Given the description of an element on the screen output the (x, y) to click on. 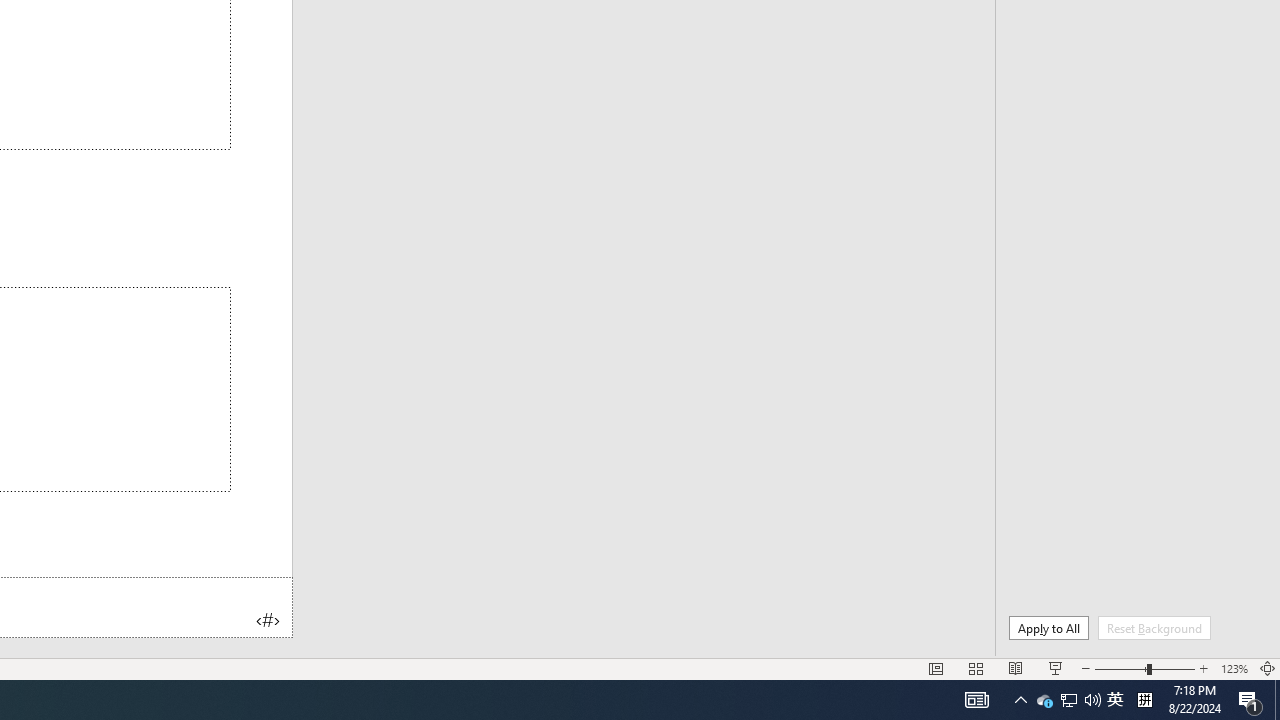
Zoom 123% (1234, 668)
Apply to All (1048, 628)
Reset Background (1154, 628)
